Given the description of an element on the screen output the (x, y) to click on. 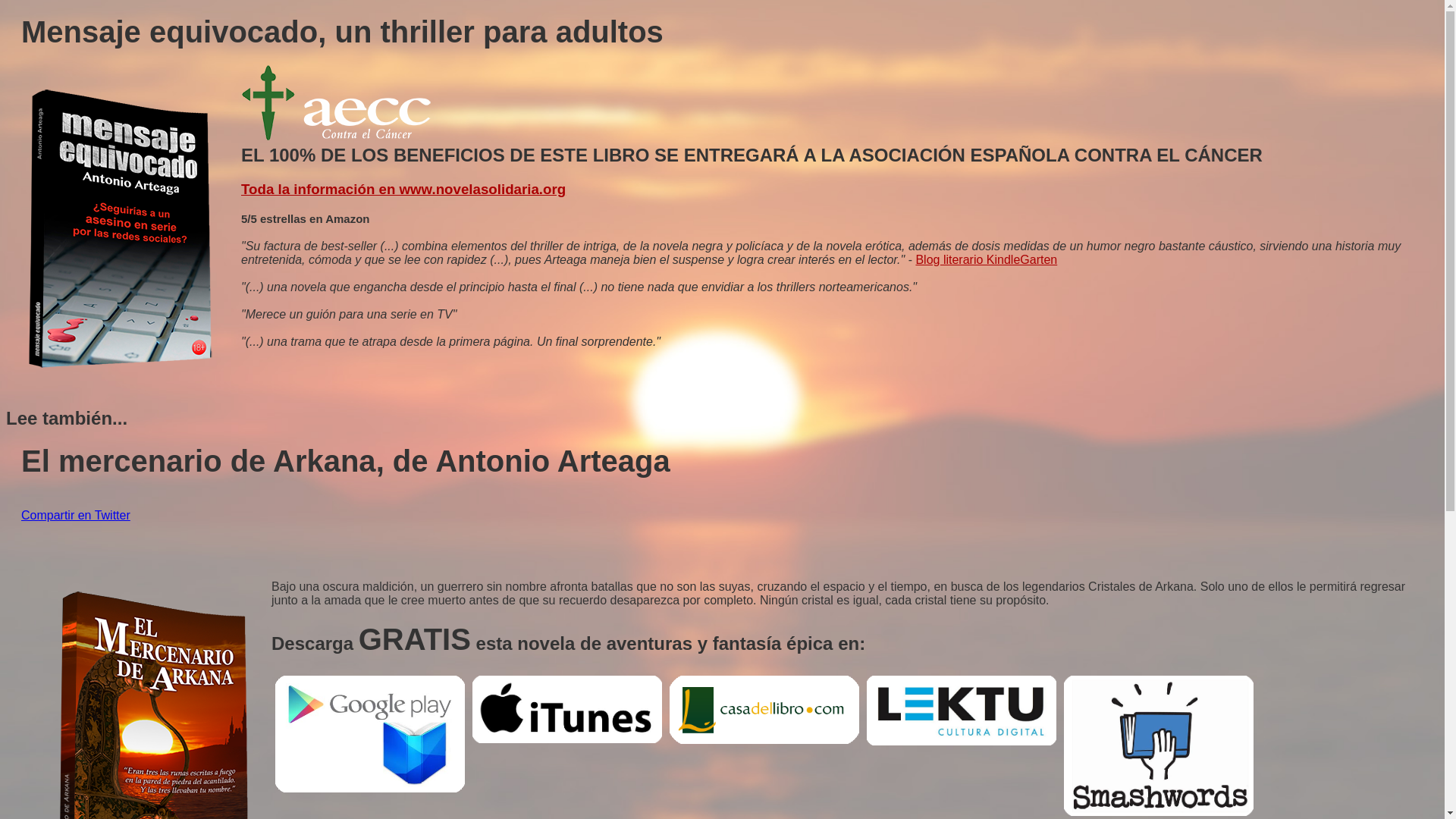
Blog literario KindleGarten Element type: text (986, 259)
Compartir en Twitter Element type: text (75, 514)
Mensaje equivocado, de Antonio Arteaga Element type: hover (123, 228)
